Given the description of an element on the screen output the (x, y) to click on. 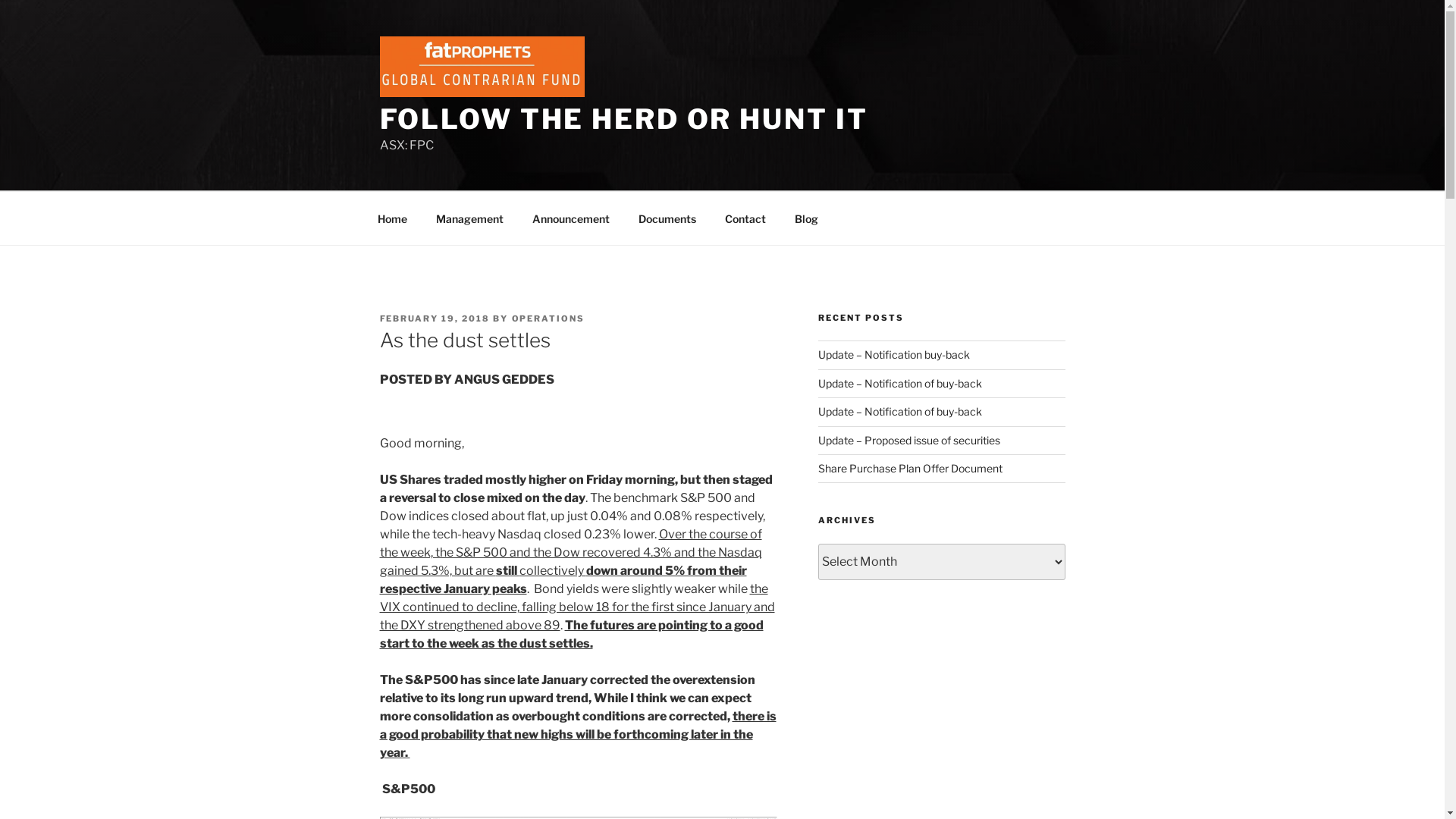
Share Purchase Plan Offer Document Element type: text (910, 467)
FEBRUARY 19, 2018 Element type: text (434, 318)
OPERATIONS Element type: text (547, 318)
Announcement Element type: text (570, 218)
Contact Element type: text (744, 218)
Blog Element type: text (806, 218)
FOLLOW THE HERD OR HUNT IT Element type: text (623, 118)
Home Element type: text (392, 218)
Documents Element type: text (666, 218)
Management Element type: text (470, 218)
